Given the description of an element on the screen output the (x, y) to click on. 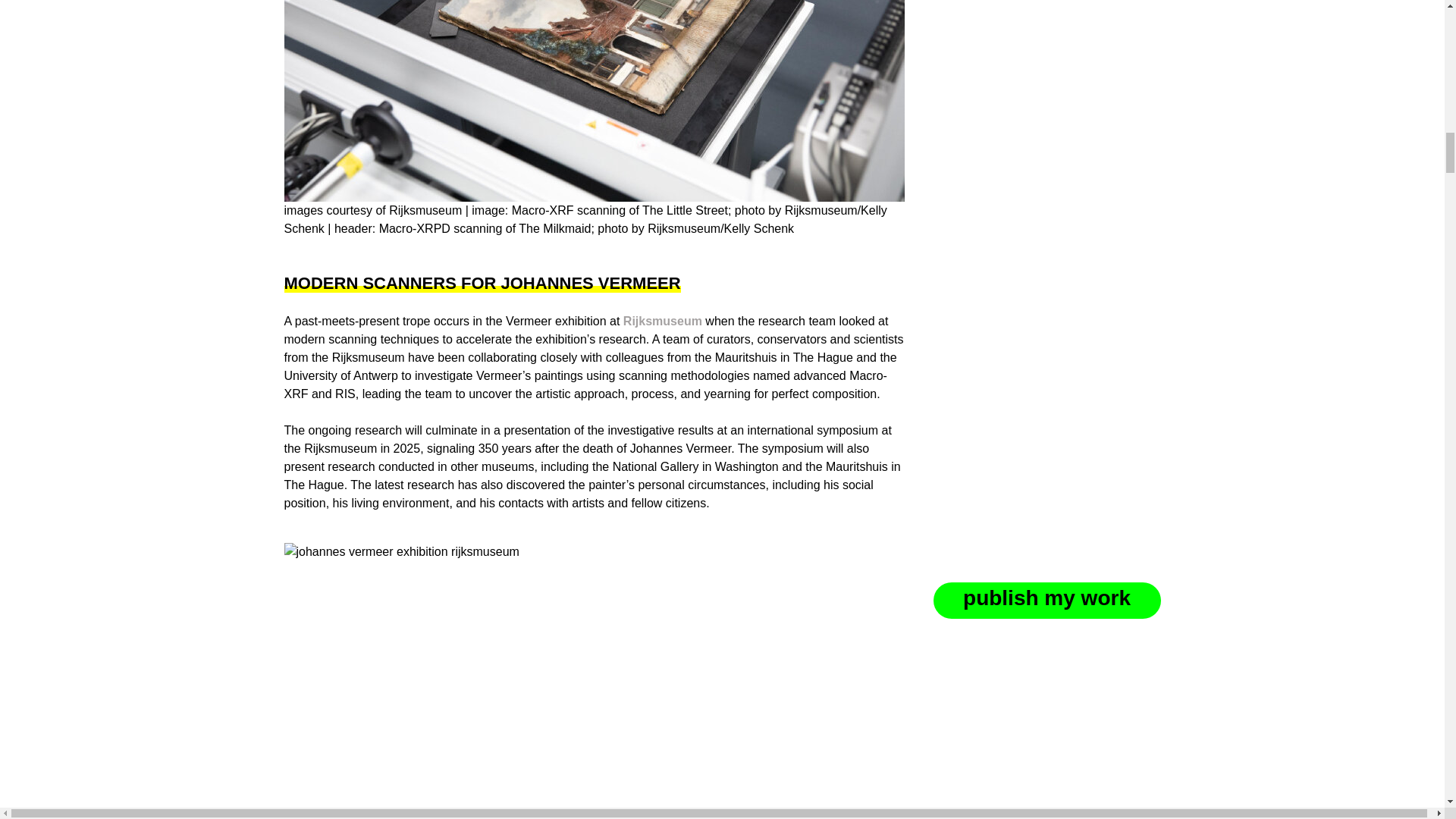
publish my work (1046, 60)
see sample (1052, 712)
subscribe (986, 800)
